Given the description of an element on the screen output the (x, y) to click on. 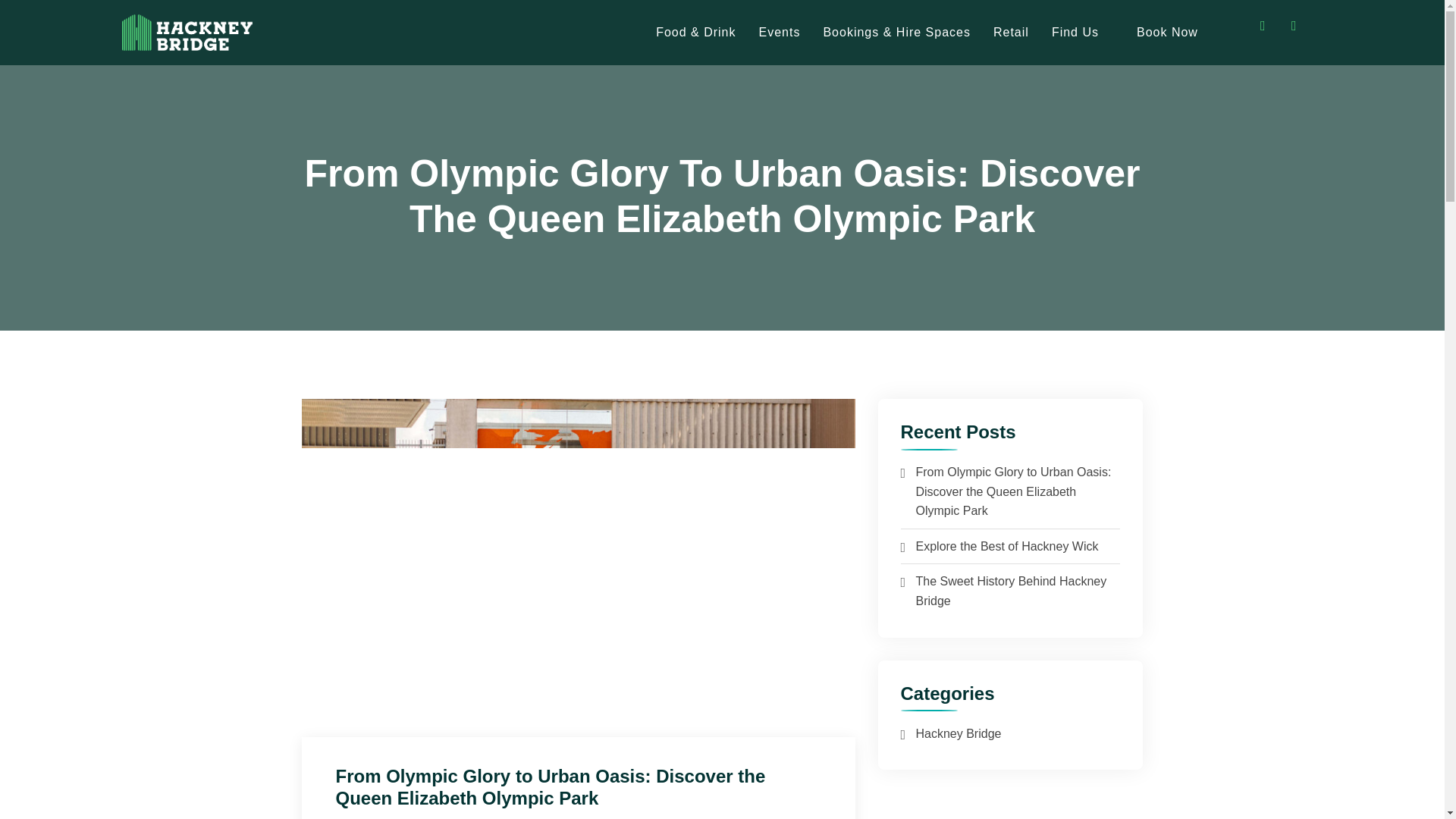
Book Now (1167, 32)
Retail (1011, 32)
The Sweet History Behind Hackney Bridge (1010, 590)
Find Us (1075, 32)
Explore the Best of Hackney Wick (1007, 545)
Hackney Bridge (958, 733)
Events (780, 32)
